Given the description of an element on the screen output the (x, y) to click on. 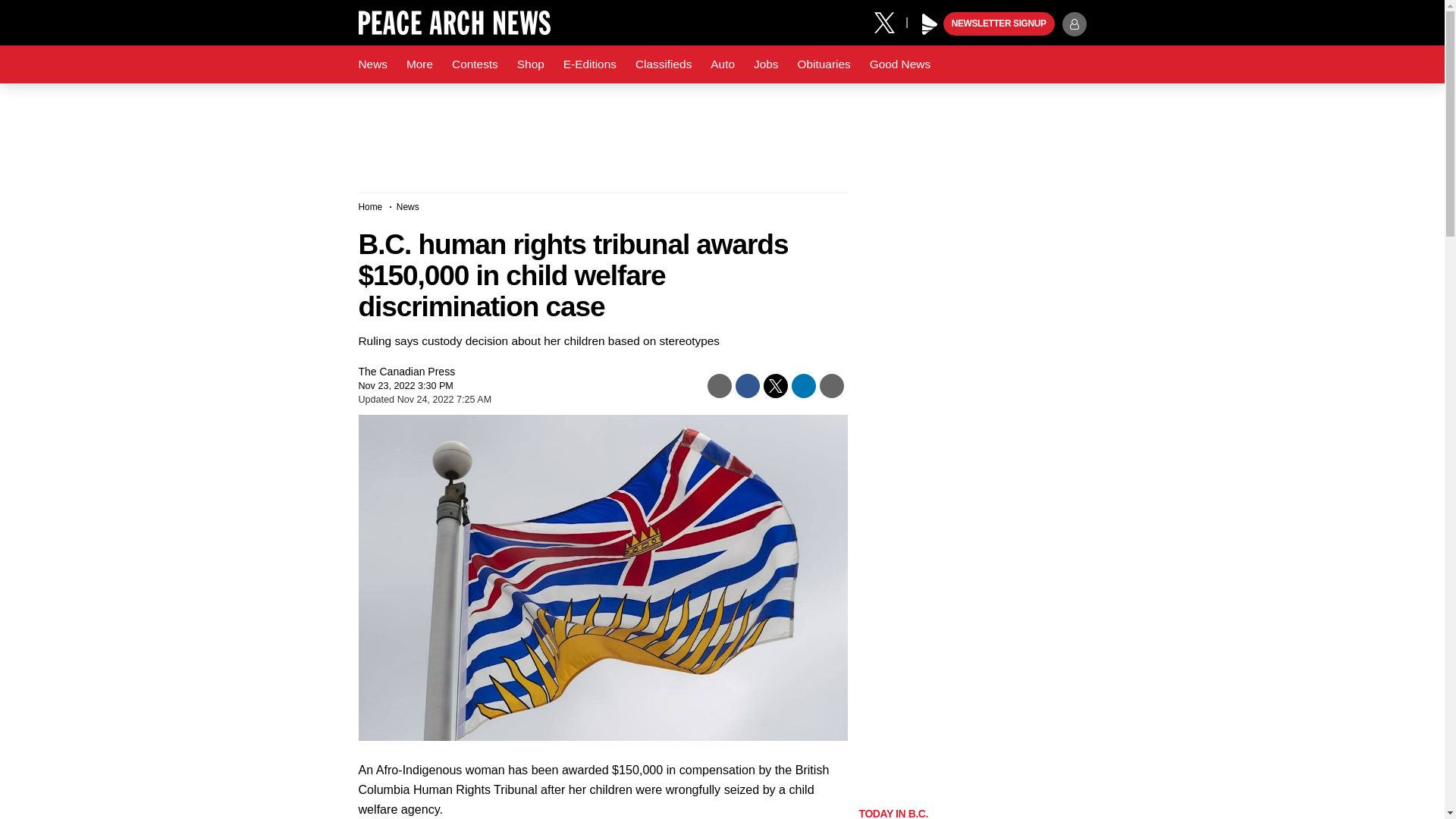
X (889, 21)
Black Press Media (929, 24)
NEWSLETTER SIGNUP (998, 24)
Play (929, 24)
News (372, 64)
